Given the description of an element on the screen output the (x, y) to click on. 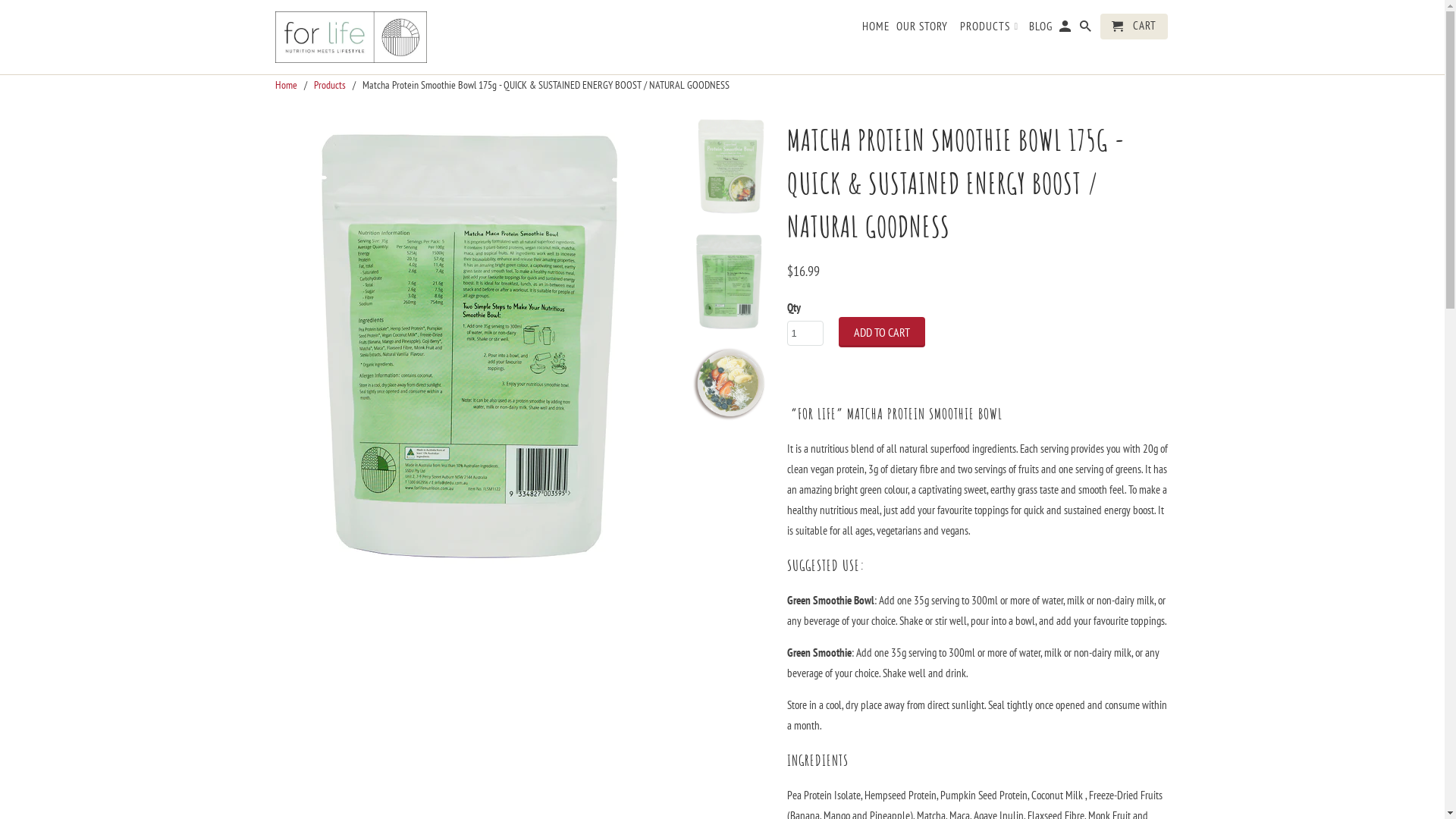
HOME Element type: text (874, 29)
OUR STORY Element type: text (921, 29)
Home Element type: text (285, 84)
ADD TO CART Element type: text (881, 331)
CART Element type: text (1133, 26)
My Account  Element type: hover (1066, 29)
for life Nutrition Element type: hover (350, 36)
BLOG Element type: text (1040, 29)
Search Element type: hover (1086, 29)
Products Element type: text (329, 84)
